Given the description of an element on the screen output the (x, y) to click on. 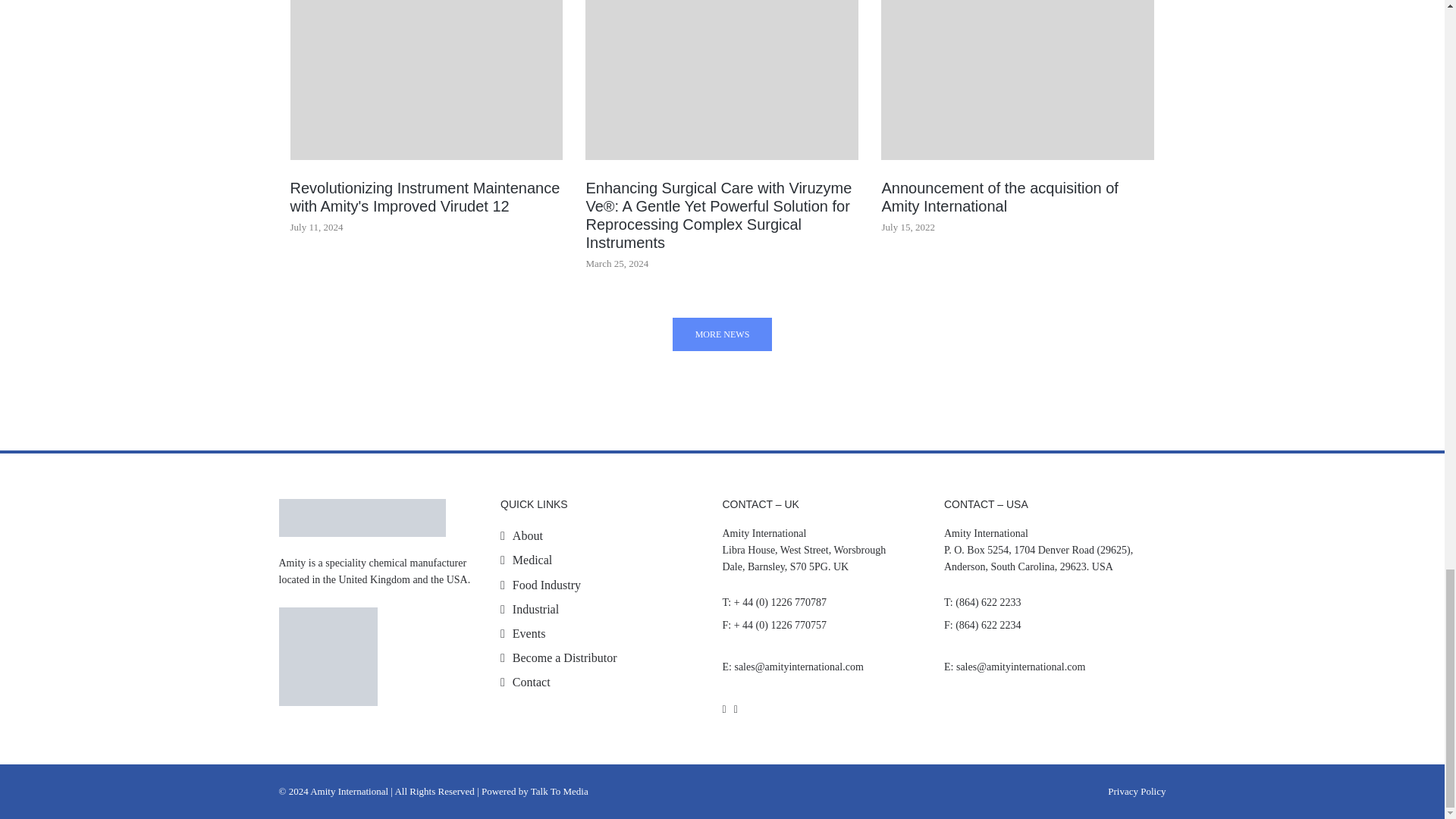
logo (362, 517)
Amity International Accreditations (328, 680)
Announcement of the acquisition of Amity International (1017, 197)
Announcement of the acquisition of Amity International (1017, 79)
Amity International Accreditations (328, 631)
Web Design Sheffield (534, 790)
